Given the description of an element on the screen output the (x, y) to click on. 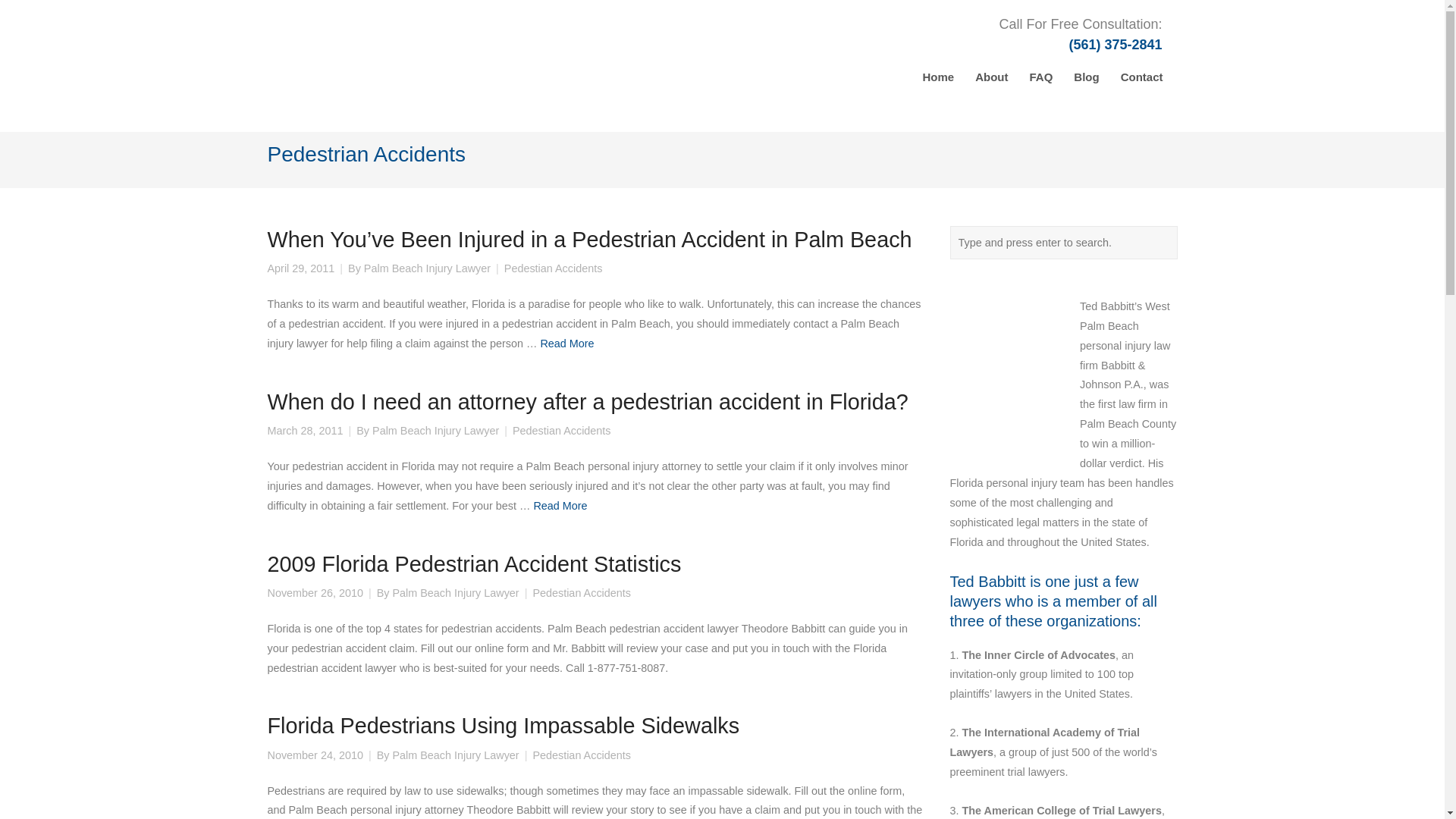
Pedestian Accidents (561, 431)
2009 Florida Pedestrian Accident Statistics (473, 564)
Pedestian Accidents (581, 755)
View all posts in Pedestian Accidents (561, 431)
Palm Beach Injury Lawyer (427, 268)
Palm Beach Injury Lawyer (454, 593)
View all posts in Pedestian Accidents (552, 268)
Read More (559, 505)
